Given the description of an element on the screen output the (x, y) to click on. 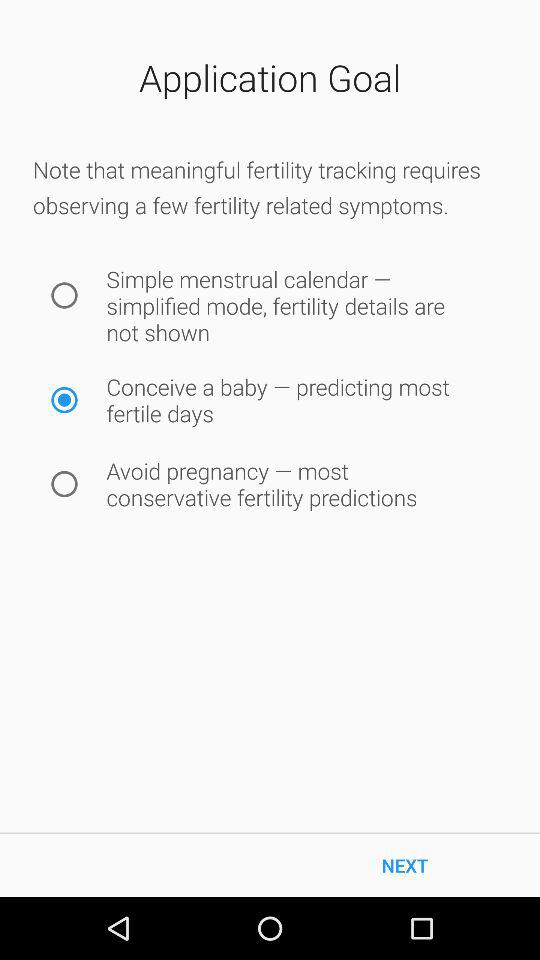
select icon to the left of the avoid pregnancy most item (64, 483)
